Given the description of an element on the screen output the (x, y) to click on. 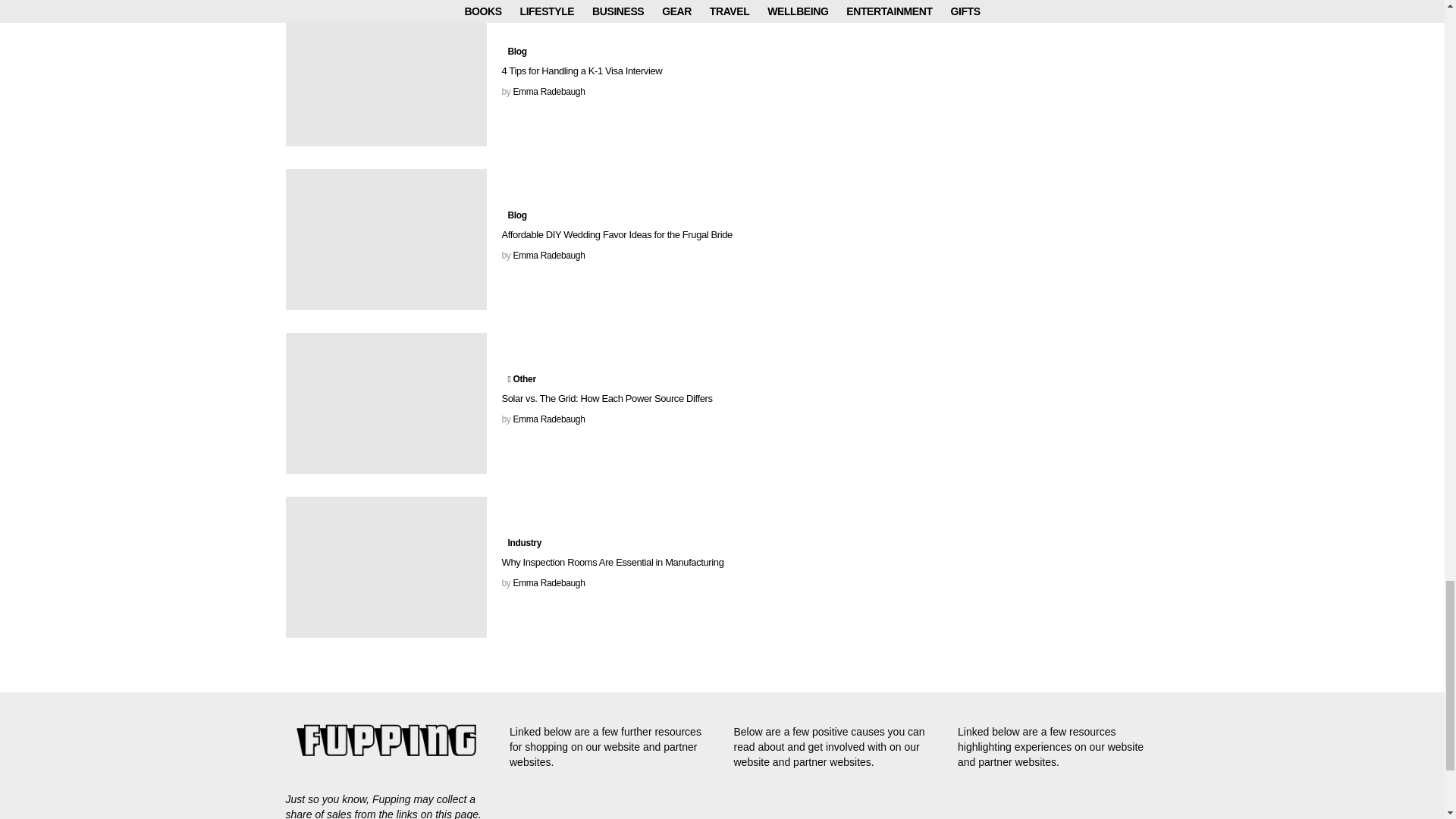
Posts by Emma Radebaugh (548, 583)
Posts by Emma Radebaugh (548, 255)
Affordable DIY Wedding Favor Ideas for the Frugal Bride (385, 239)
Posts by Emma Radebaugh (548, 419)
Why Inspection Rooms Are Essential in Manufacturing (385, 567)
Posts by Emma Radebaugh (548, 91)
Solar vs. The Grid: How Each Power Source Differs (385, 403)
4 Tips for Handling a K-1 Visa Interview (385, 75)
